Given the description of an element on the screen output the (x, y) to click on. 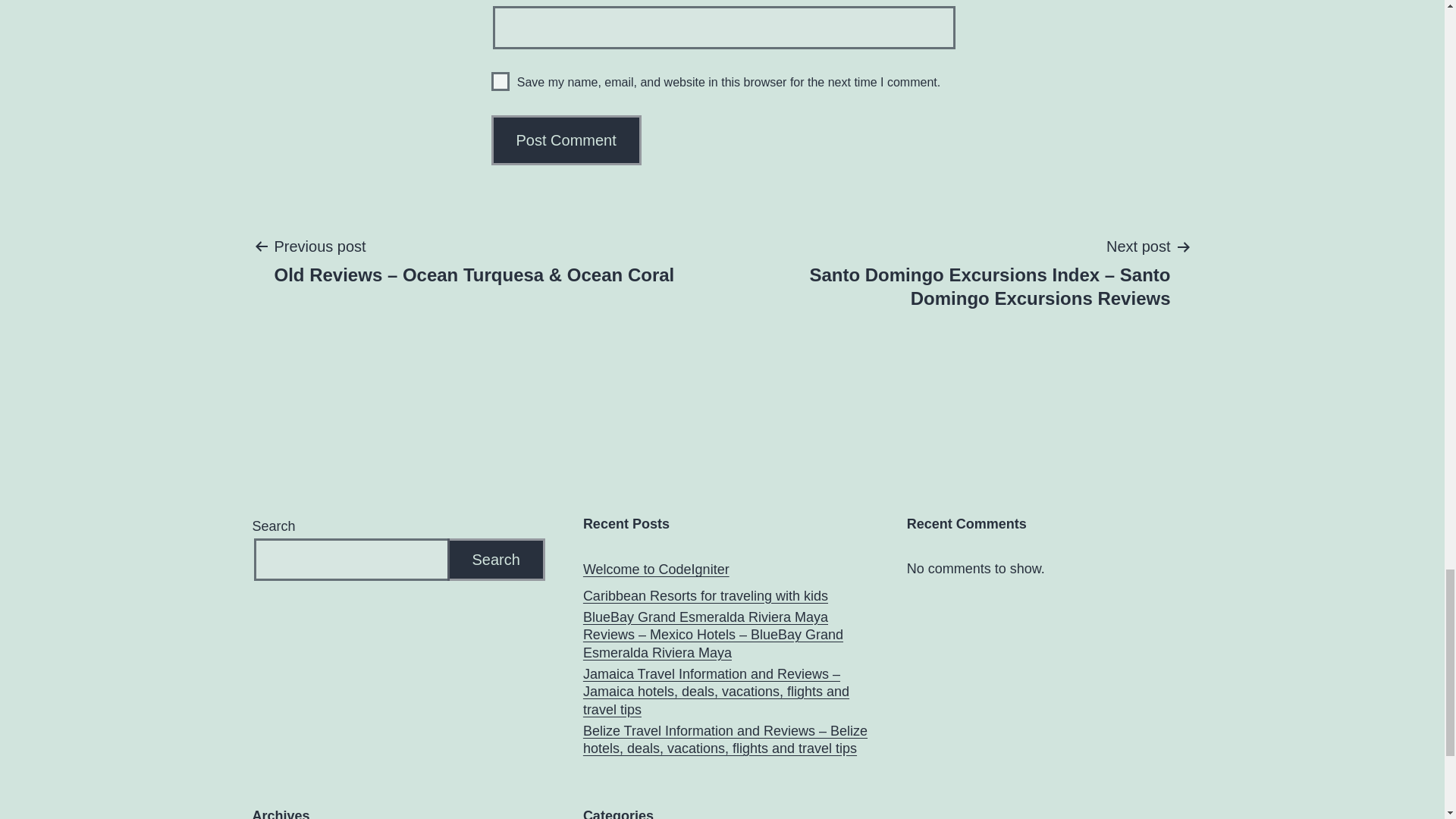
Post Comment (567, 140)
Welcome to CodeIgniter (656, 569)
Caribbean Resorts for traveling with kids (705, 596)
Search (495, 559)
yes (500, 81)
Post Comment (567, 140)
